Given the description of an element on the screen output the (x, y) to click on. 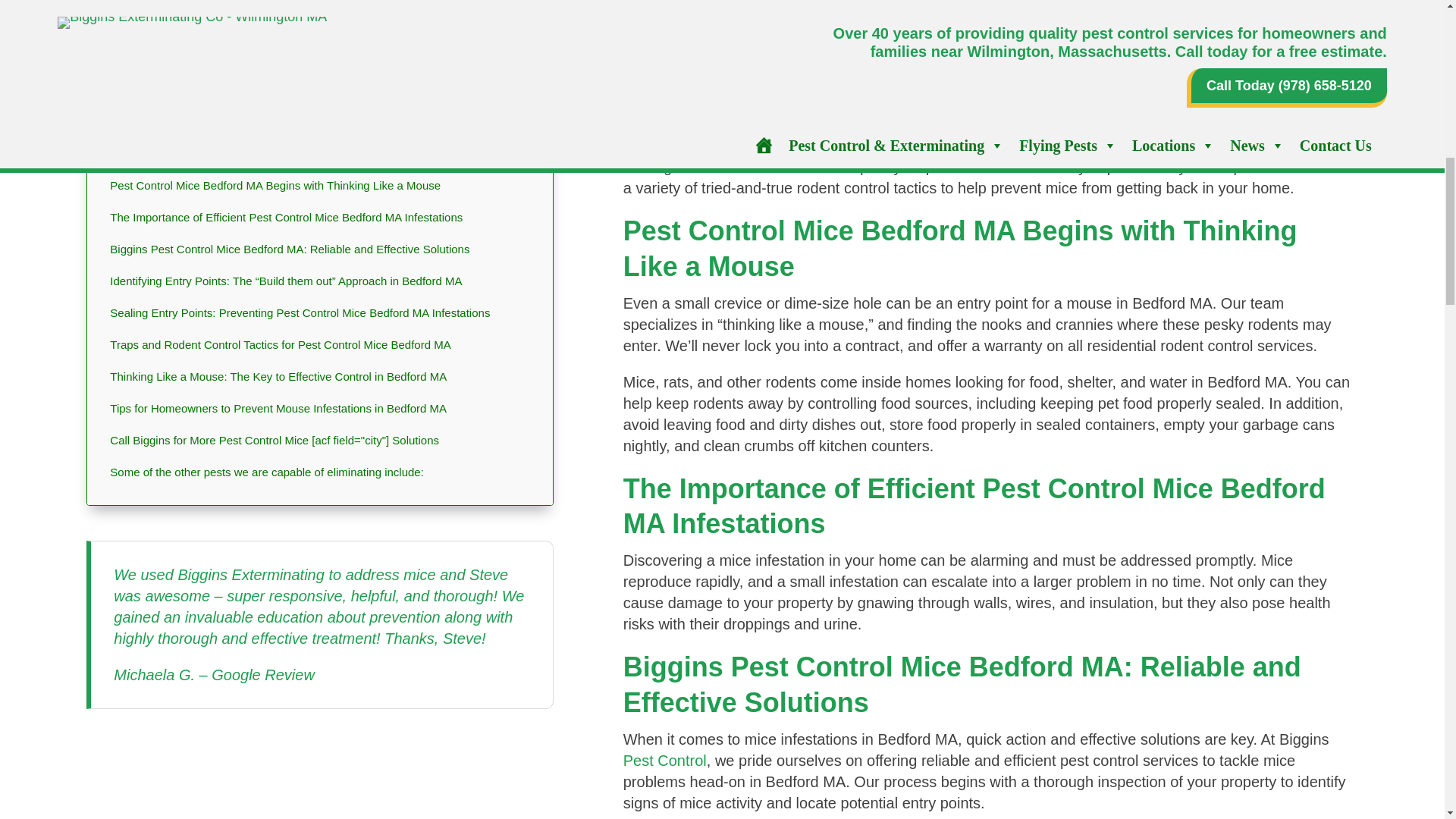
Pest Control Service (835, 145)
Pest Control Service (1270, 8)
Pest Control Service (664, 760)
